Given the description of an element on the screen output the (x, y) to click on. 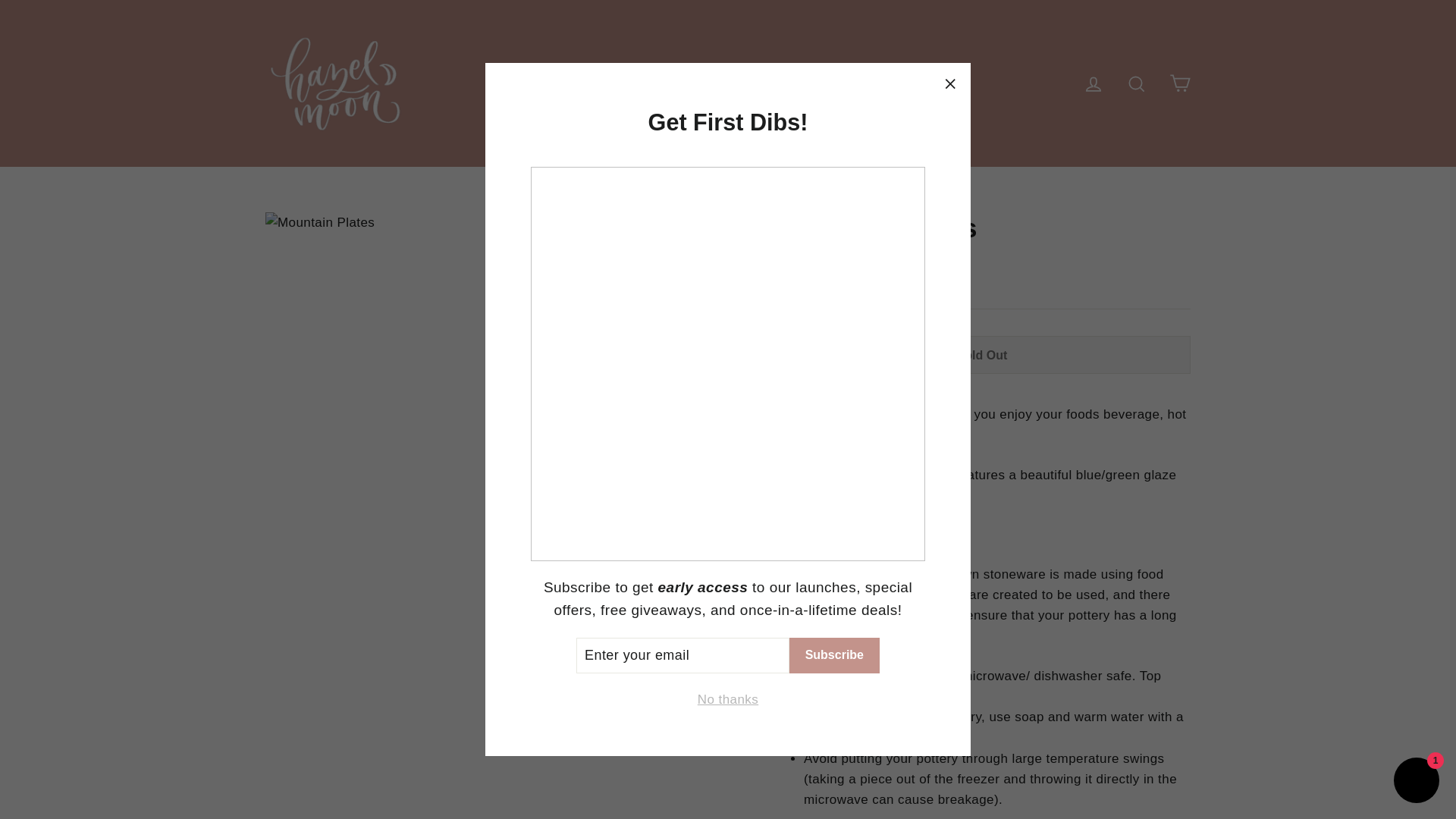
Cart (1179, 83)
Shopify online store chat (1416, 781)
Sold Out (982, 354)
All Collections (721, 82)
Log in (1093, 82)
Home (631, 82)
Search (1136, 82)
Catalog (818, 82)
